Given the description of an element on the screen output the (x, y) to click on. 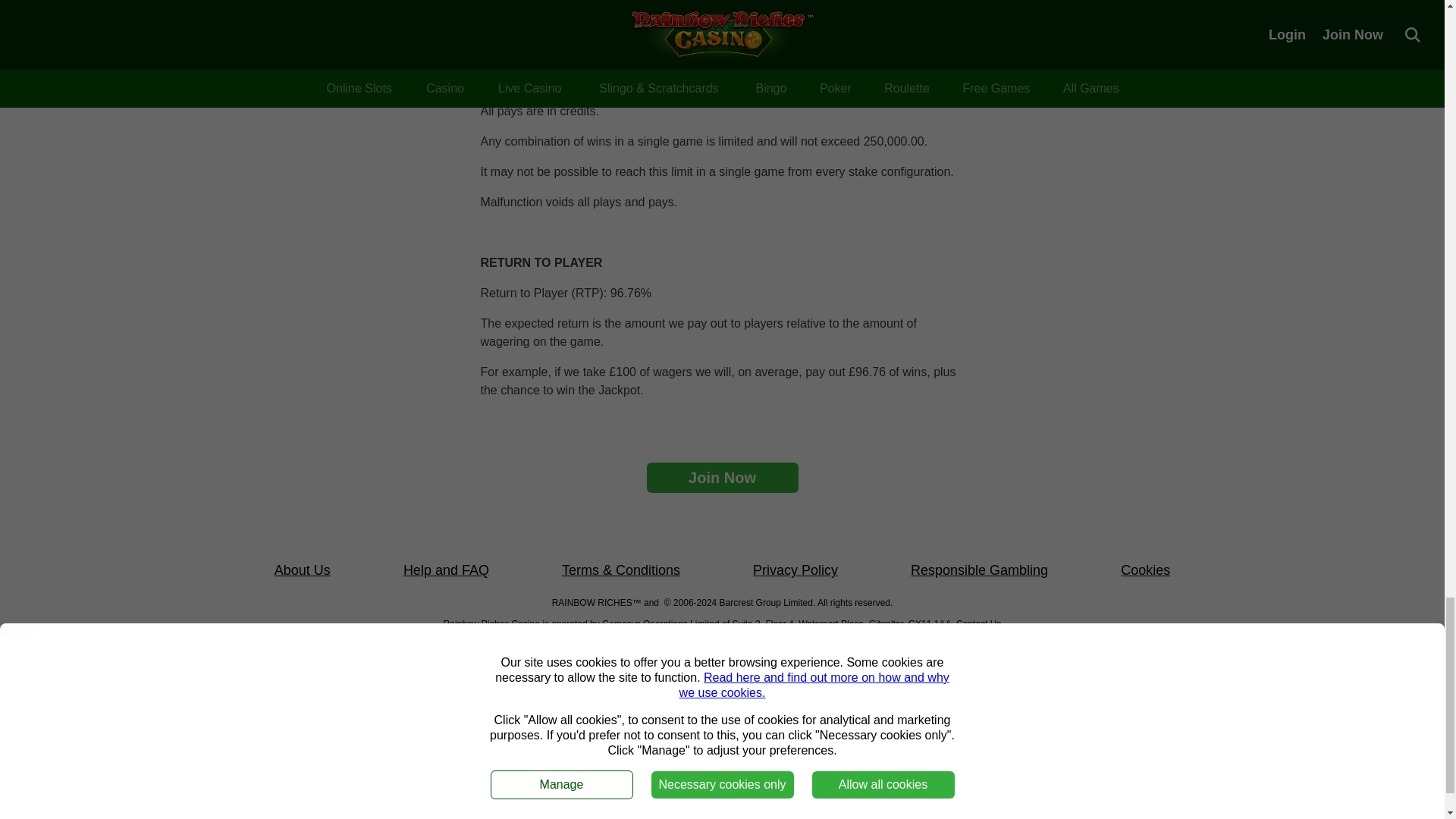
Cookies (1145, 570)
Privacy Policy (795, 570)
Contact Us (978, 623)
Government of Gibraltar (575, 657)
38905 (913, 645)
Modern Slavery Statement (722, 678)
Join Now (721, 477)
Help and FAQ (446, 570)
About Us (302, 570)
Responsible Gambling (979, 570)
Join Now (721, 477)
